Given the description of an element on the screen output the (x, y) to click on. 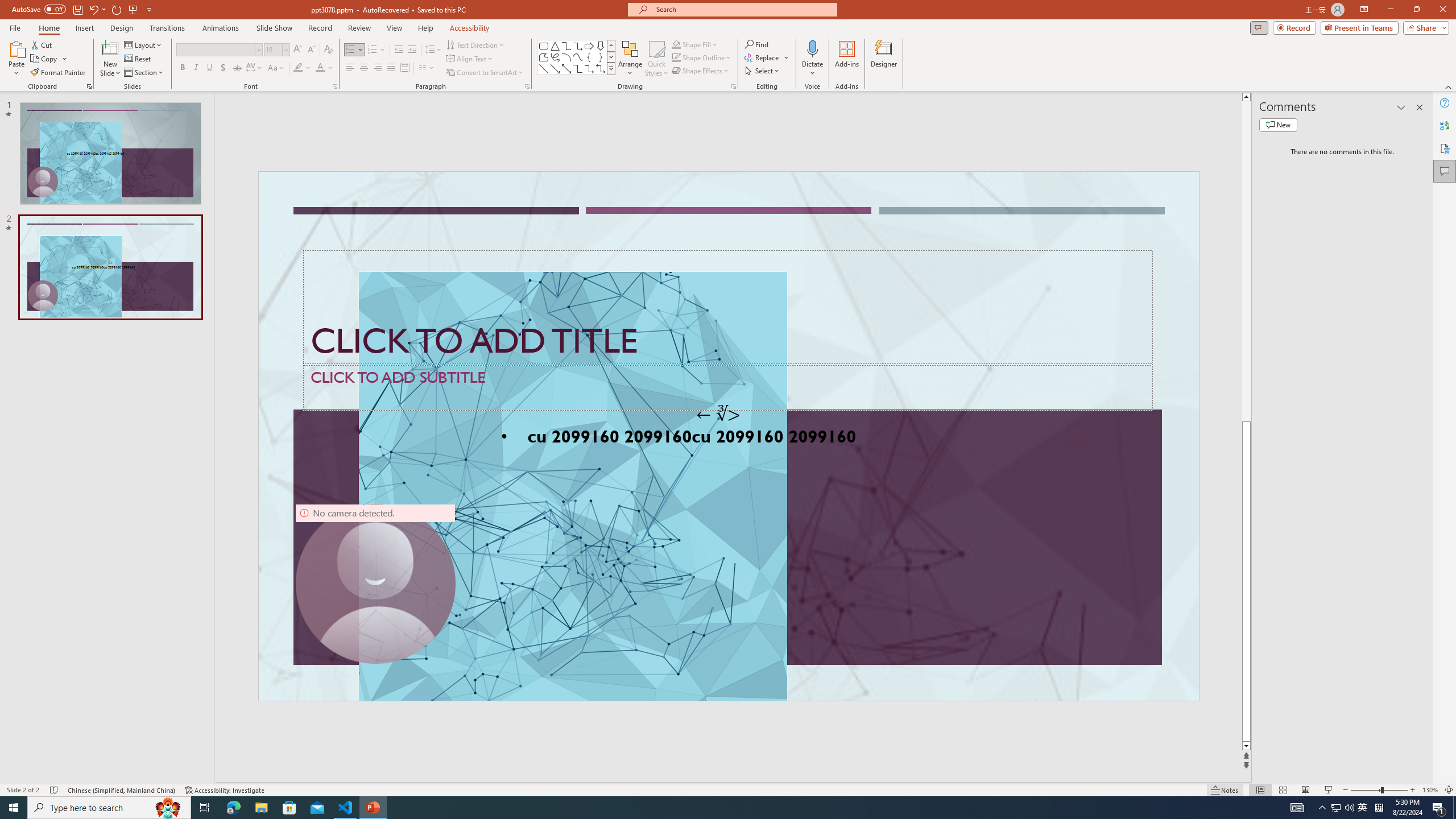
TextBox 61 (726, 438)
